Given the description of an element on the screen output the (x, y) to click on. 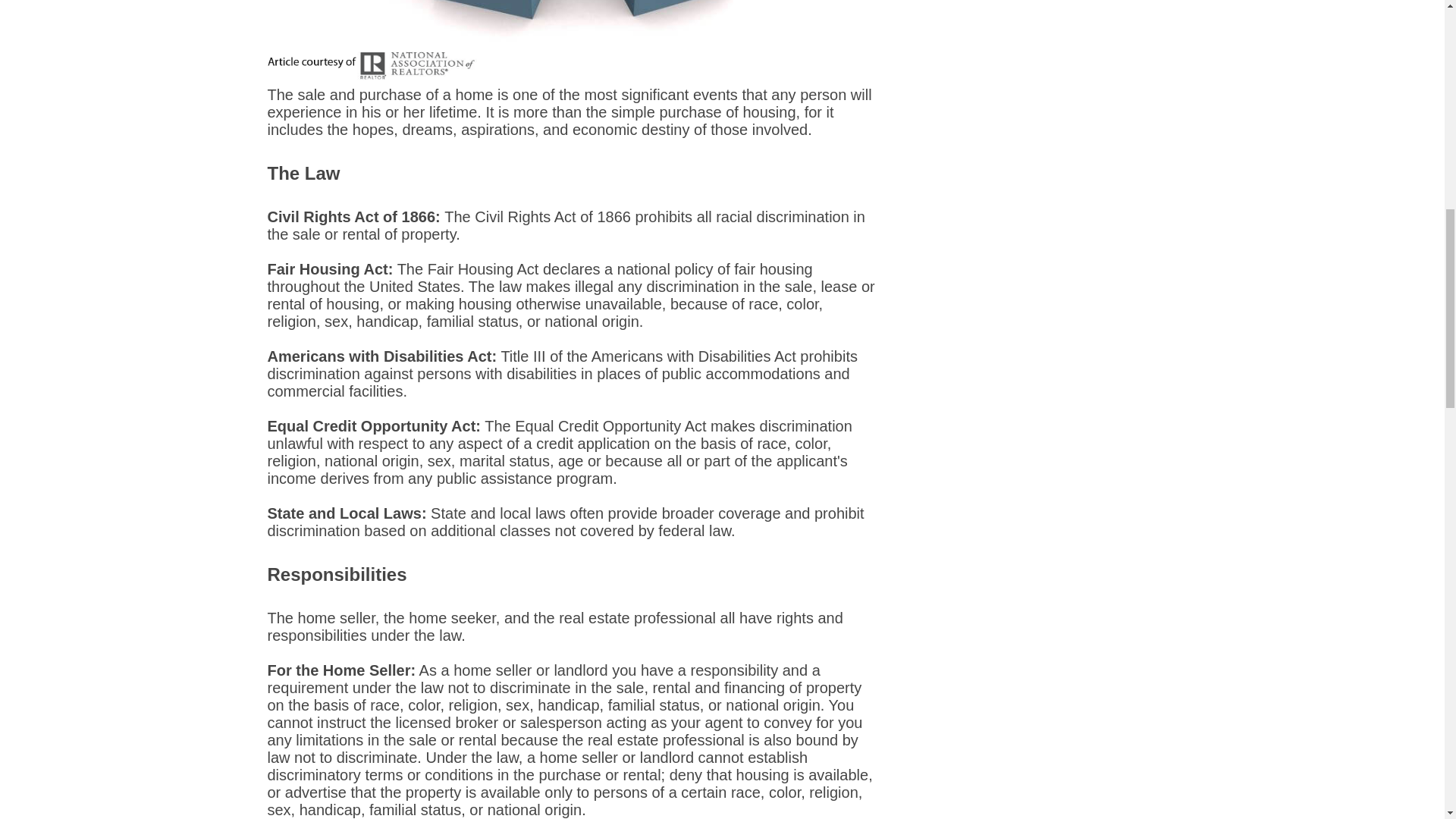
Equal Opportunity Housing (571, 22)
co. nar (371, 65)
